Given the description of an element on the screen output the (x, y) to click on. 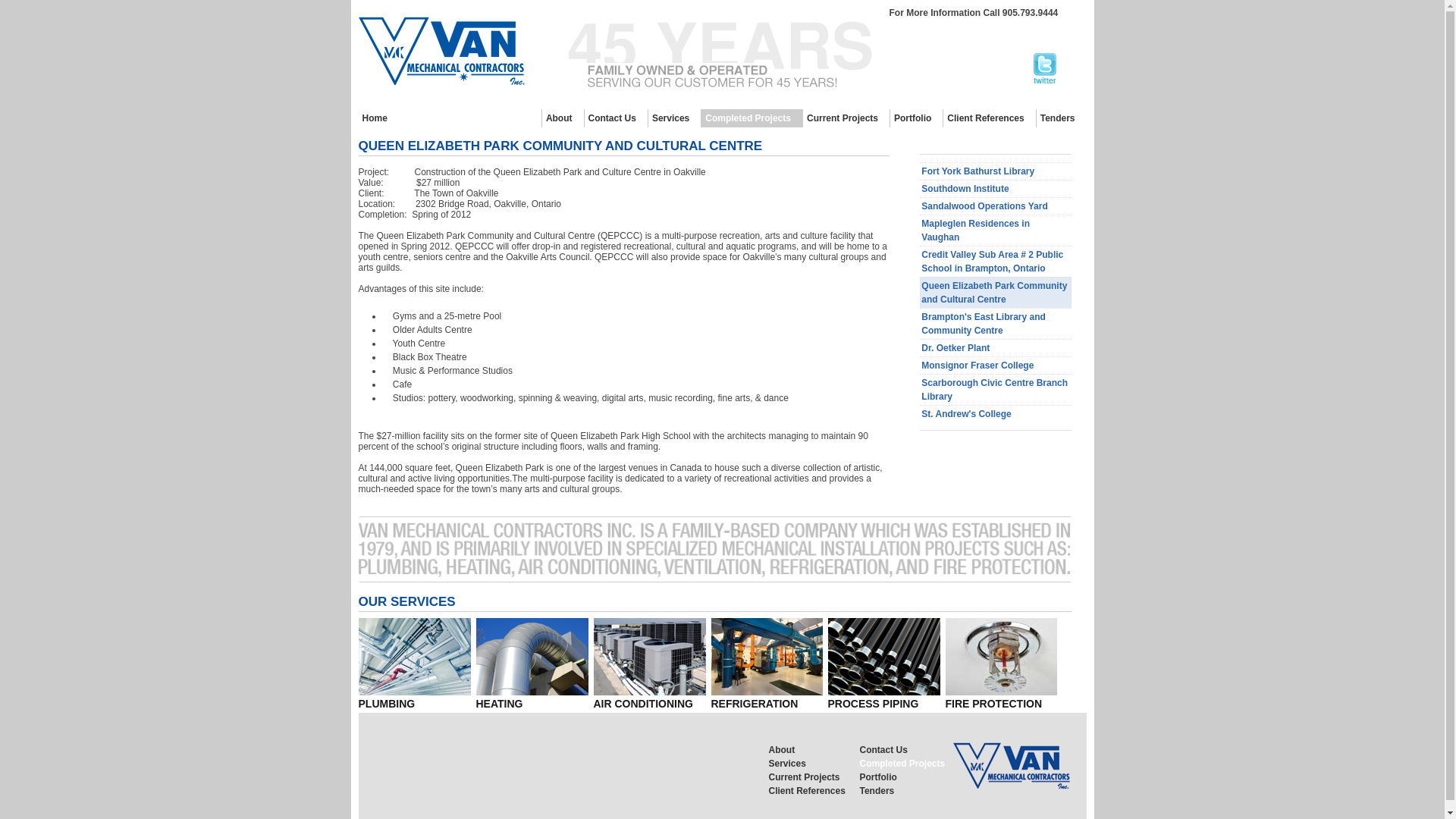
Home (377, 117)
Contact Us (905, 749)
Client References (988, 117)
Scarborough Civic Centre Branch Library (995, 388)
Current Projects (814, 776)
St. Andrew's College (995, 413)
Services (673, 117)
Tenders (1060, 117)
Portfolio (915, 117)
Completed Projects (905, 763)
